Given the description of an element on the screen output the (x, y) to click on. 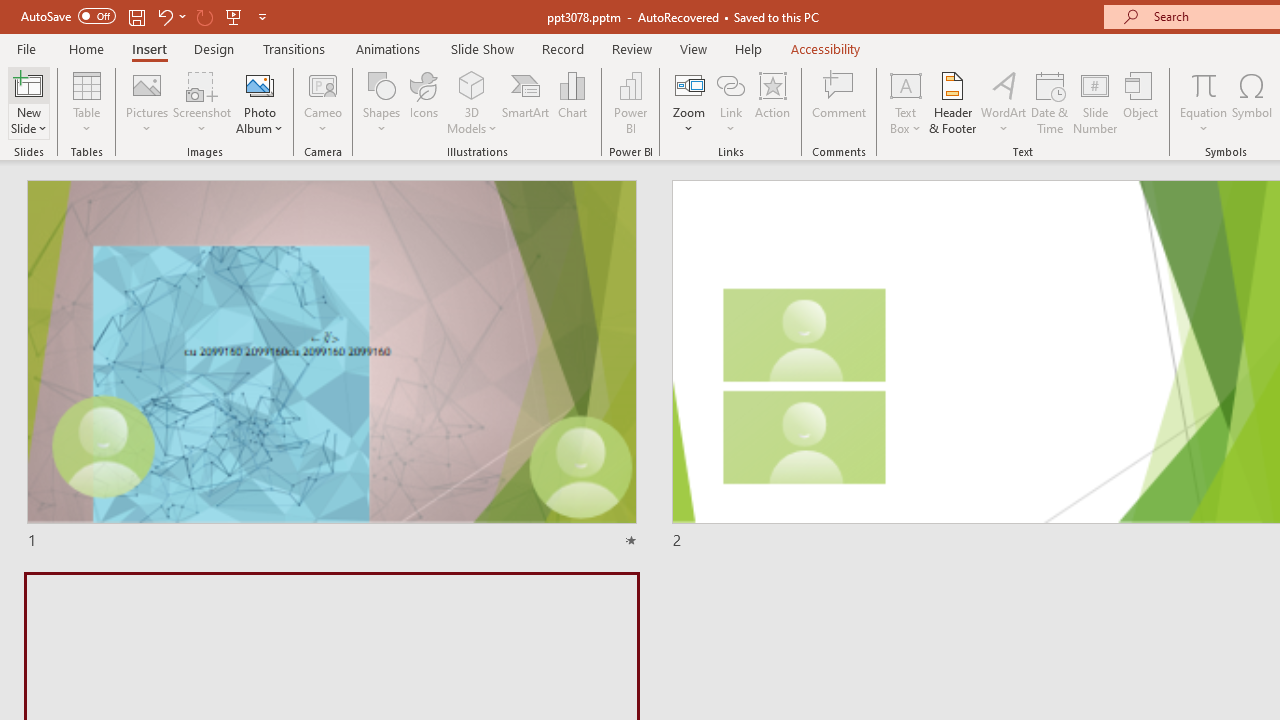
Symbol... (1252, 102)
Comment (839, 102)
Link (731, 84)
3D Models (472, 84)
